Given the description of an element on the screen output the (x, y) to click on. 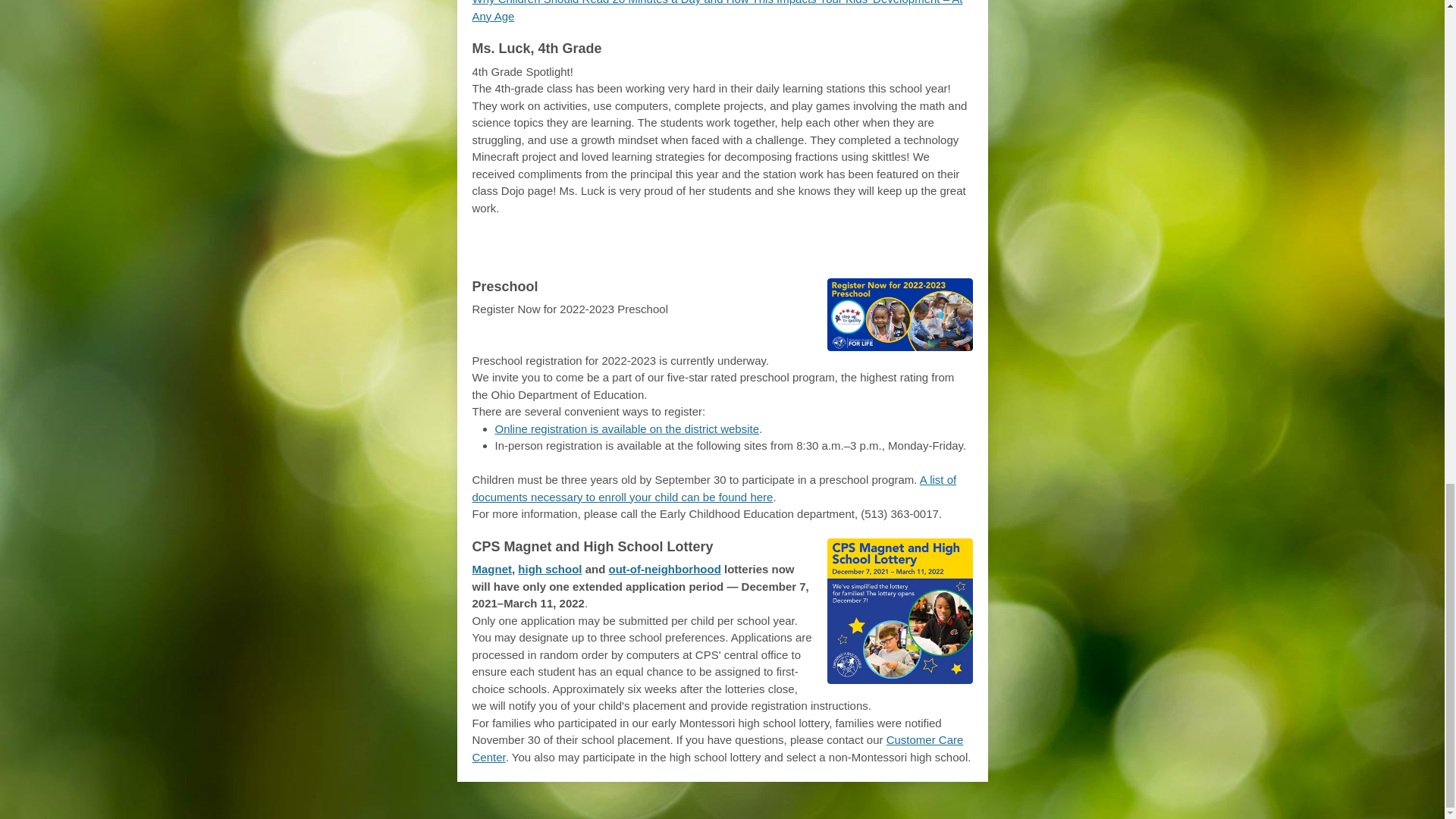
Magnet (491, 568)
District (695, 249)
Customer Care Center (716, 748)
Online registration is available on the district website (626, 428)
News (756, 249)
high school (549, 568)
out-of-neighborhood (664, 568)
